Given the description of an element on the screen output the (x, y) to click on. 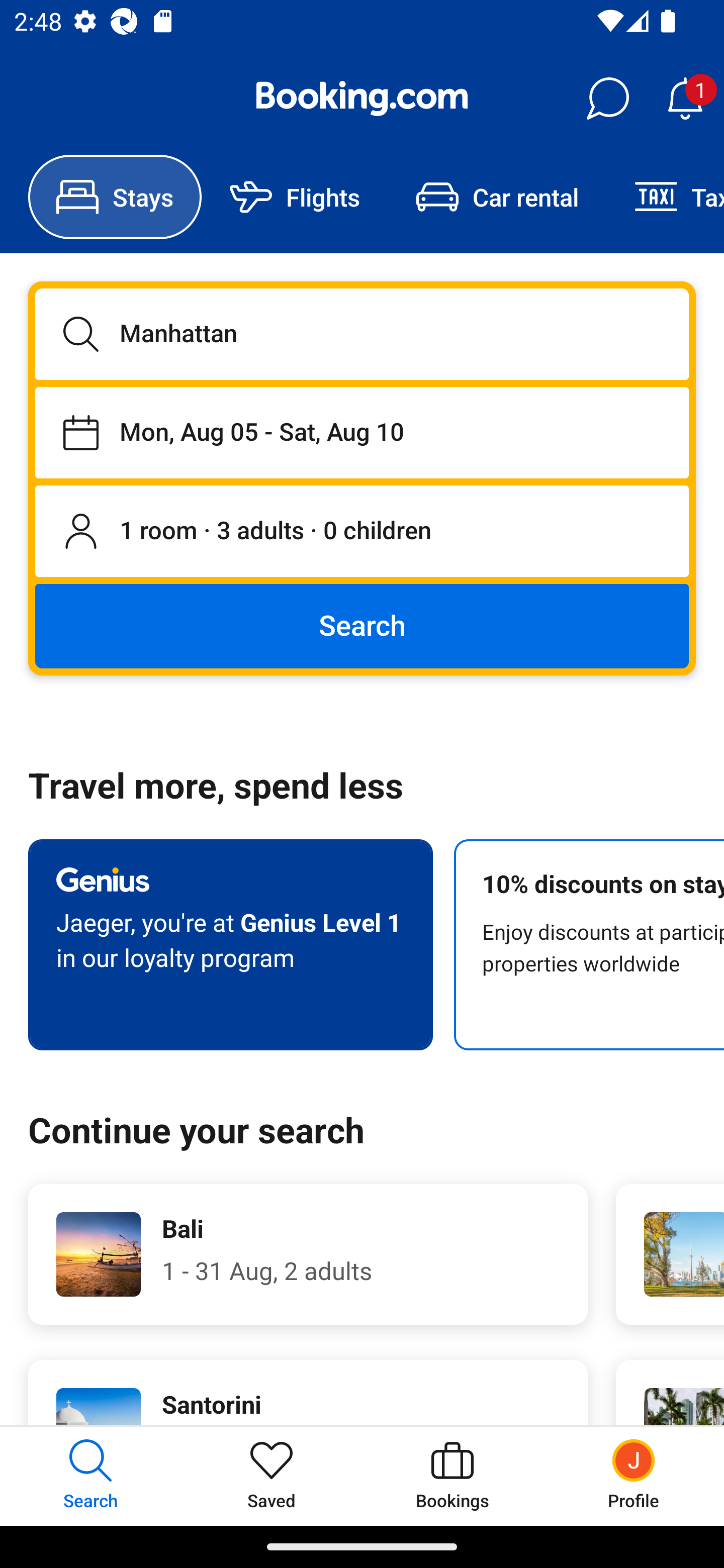
Messages (607, 98)
Notifications (685, 98)
Stays (114, 197)
Flights (294, 197)
Car rental (497, 197)
Taxi (665, 197)
Manhattan (361, 333)
Staying from Mon, Aug 05 until Sat, Aug 10 (361, 432)
1 room, 3 adults, 0 children (361, 531)
Search (361, 625)
Bali 1 - 31 Aug, 2 adults (307, 1253)
Saved (271, 1475)
Bookings (452, 1475)
Profile (633, 1475)
